Given the description of an element on the screen output the (x, y) to click on. 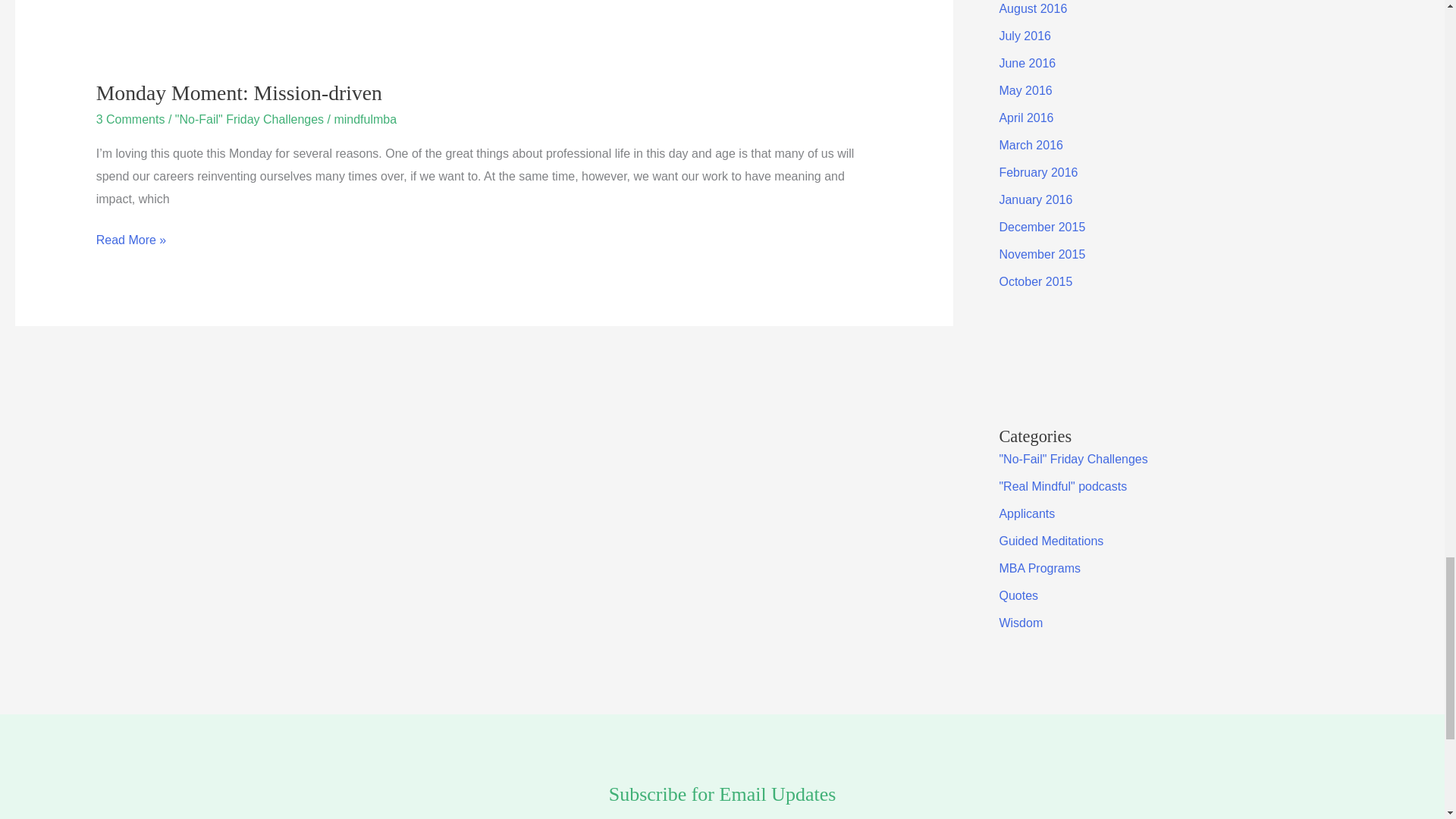
View all posts by mindfulmba (364, 119)
